Given the description of an element on the screen output the (x, y) to click on. 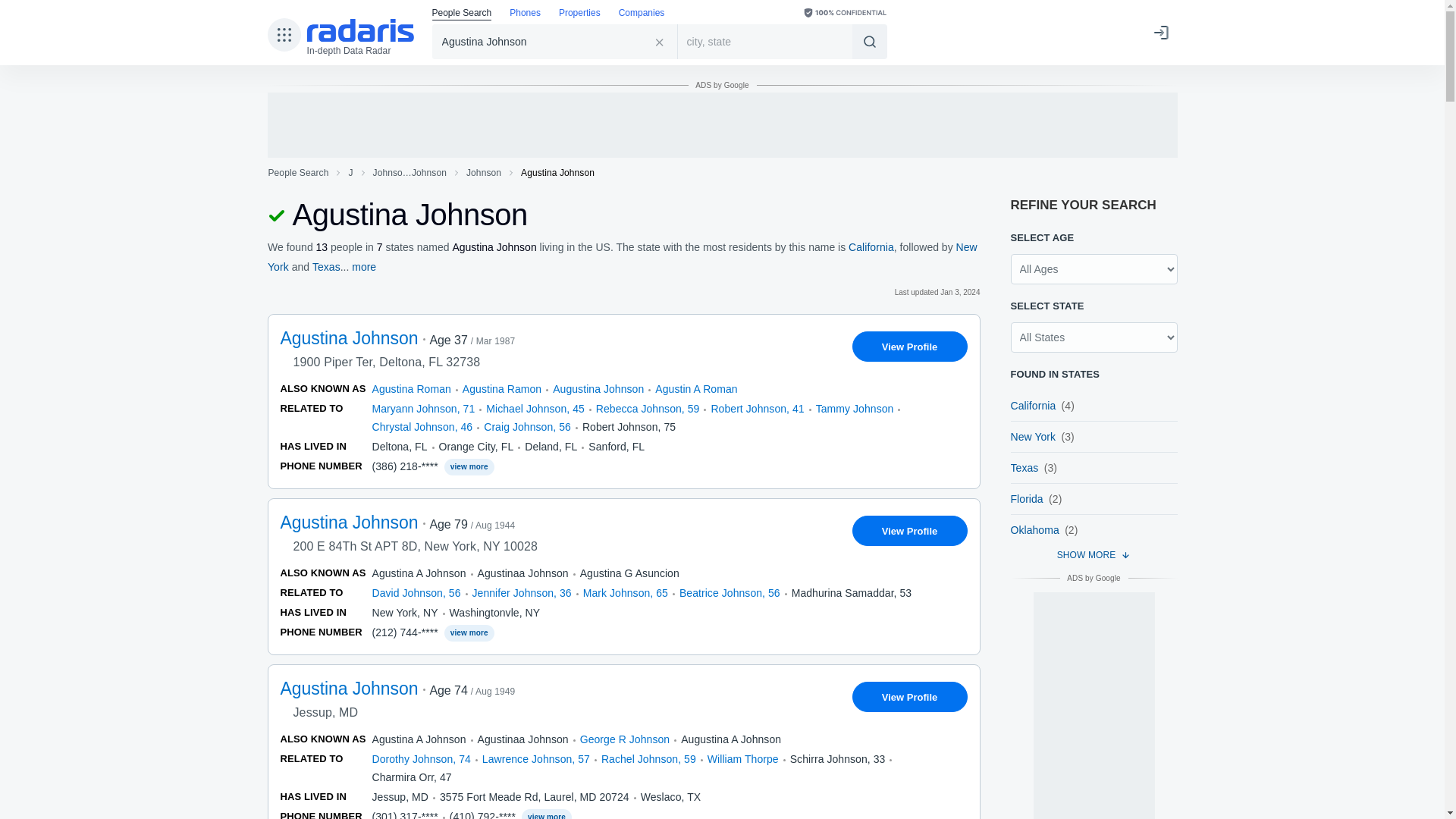
Phones (524, 13)
Chrystal Johnson, 46 (421, 426)
J (349, 172)
People Search (462, 13)
Agustina Johnson (555, 41)
Tammy Johnson (854, 408)
Robert Johnson, 41 (756, 408)
Agustina Ramon (502, 388)
Maryann Johnson, 71 (422, 408)
David Johnson, 56 (415, 592)
Michael Johnson, 45 (535, 408)
Augustina Johnson (598, 388)
Properties (579, 13)
Companies (641, 13)
Johnson (484, 172)
